Given the description of an element on the screen output the (x, y) to click on. 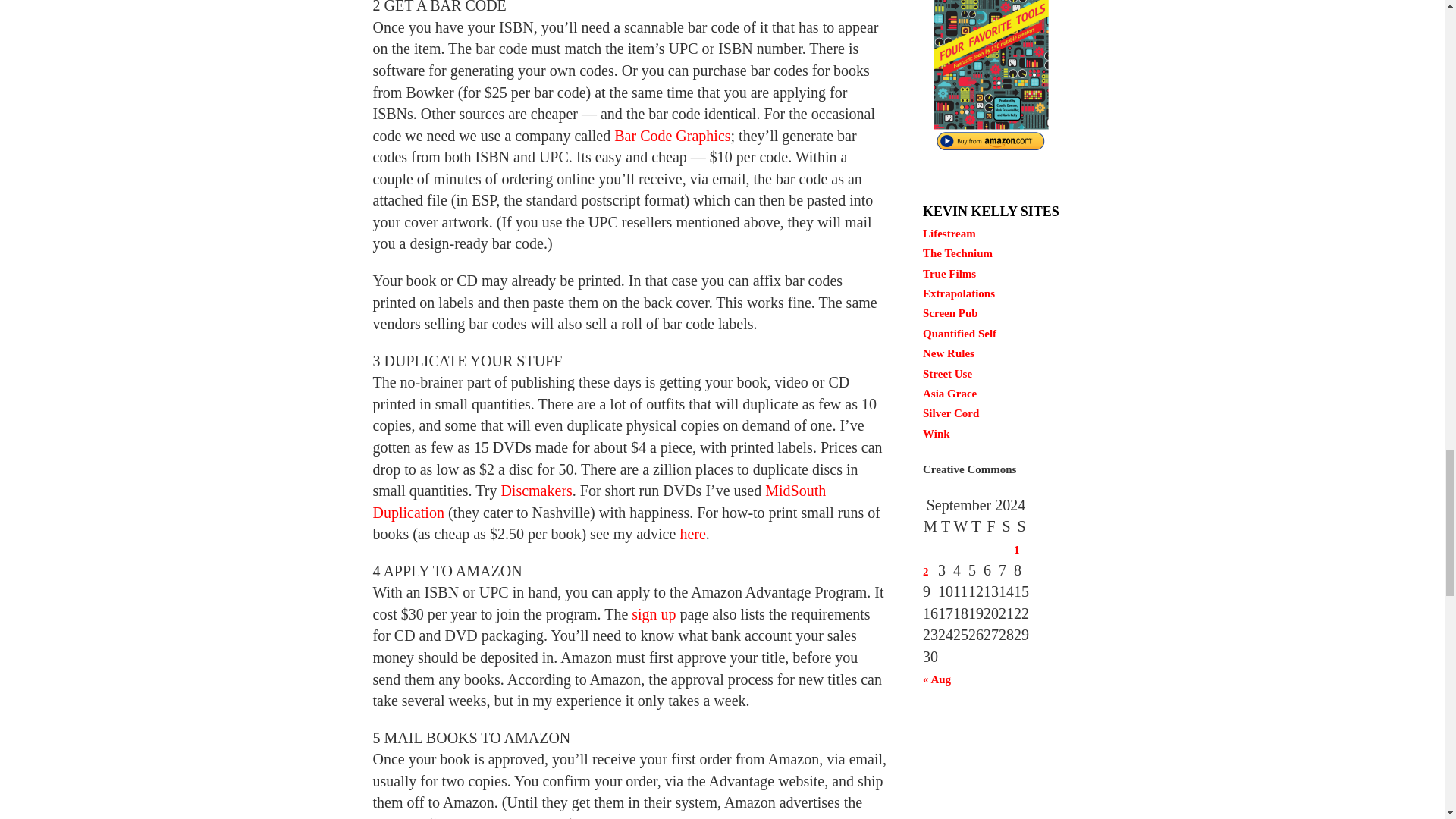
Discmakers (536, 490)
sign up (653, 614)
here (691, 533)
Bar Code Graphics (672, 135)
MidSouth Duplication (599, 501)
